Given the description of an element on the screen output the (x, y) to click on. 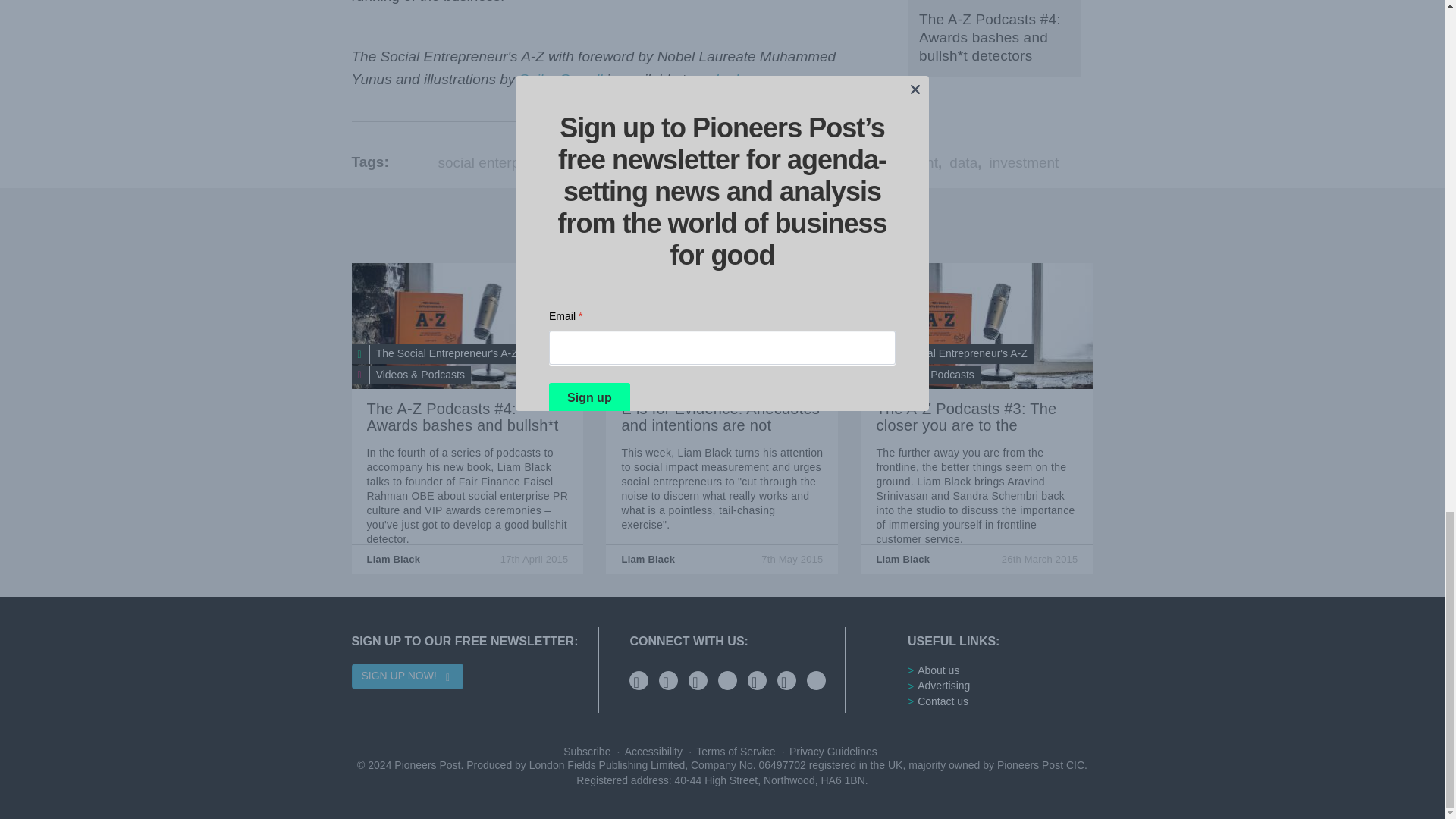
data (962, 162)
Spike Gerrell (560, 78)
business advice (605, 162)
View profile for Liam Black (648, 559)
The Social Entrepreneur's A-Z (438, 353)
A-Z podcast (467, 325)
order here (730, 78)
The Social Entrepreneur's A-Z (691, 374)
View profile for Liam Black (393, 559)
impact measurement (870, 162)
The Social Entrepreneur's A-Z (438, 353)
social entrepreneur (730, 162)
investment (1023, 162)
E is for Evidence (721, 325)
social enterprise (490, 162)
